Given the description of an element on the screen output the (x, y) to click on. 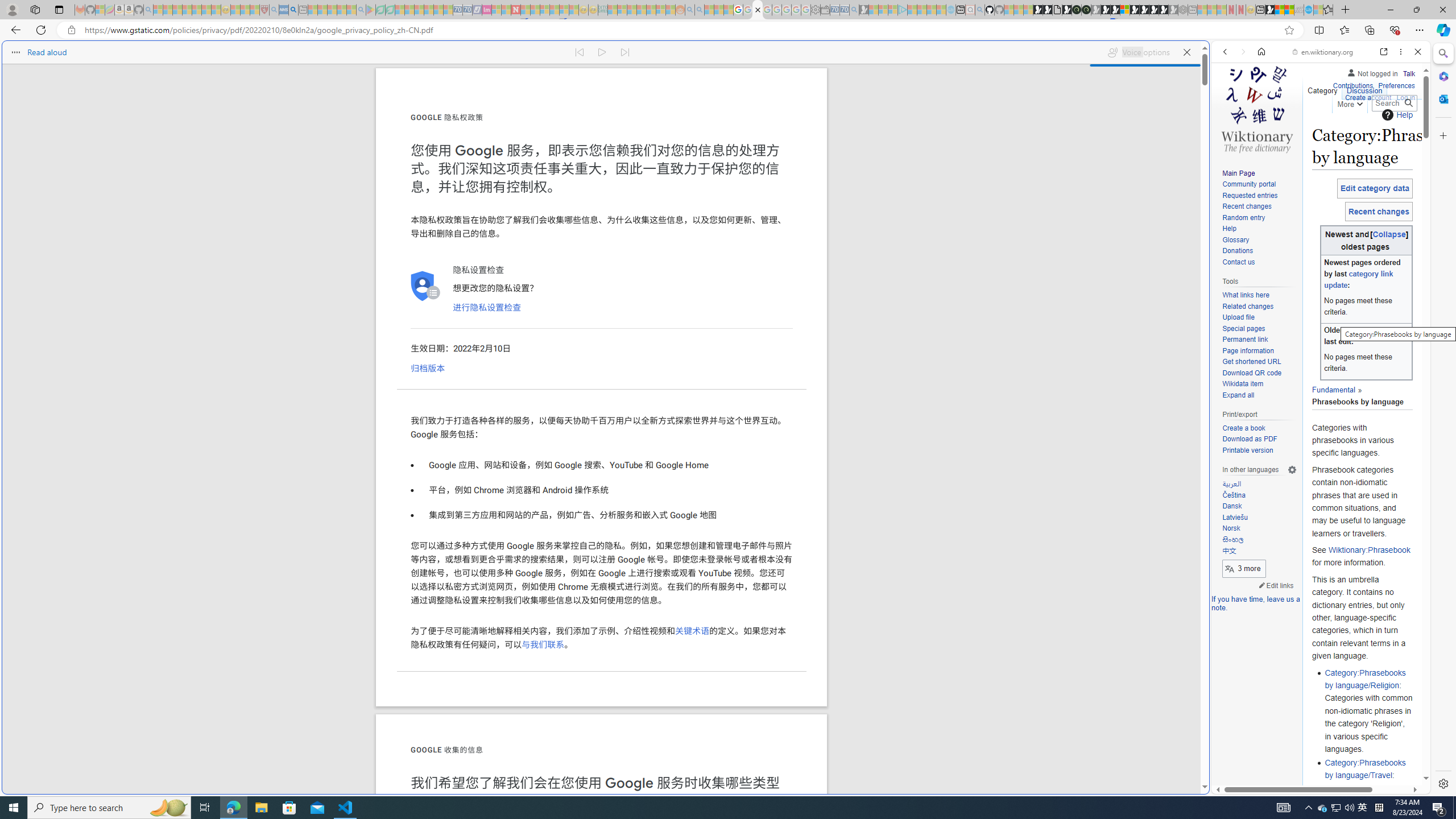
Community portal (1248, 184)
Dansk (1259, 506)
Sign in to your account (1124, 9)
